Given the description of an element on the screen output the (x, y) to click on. 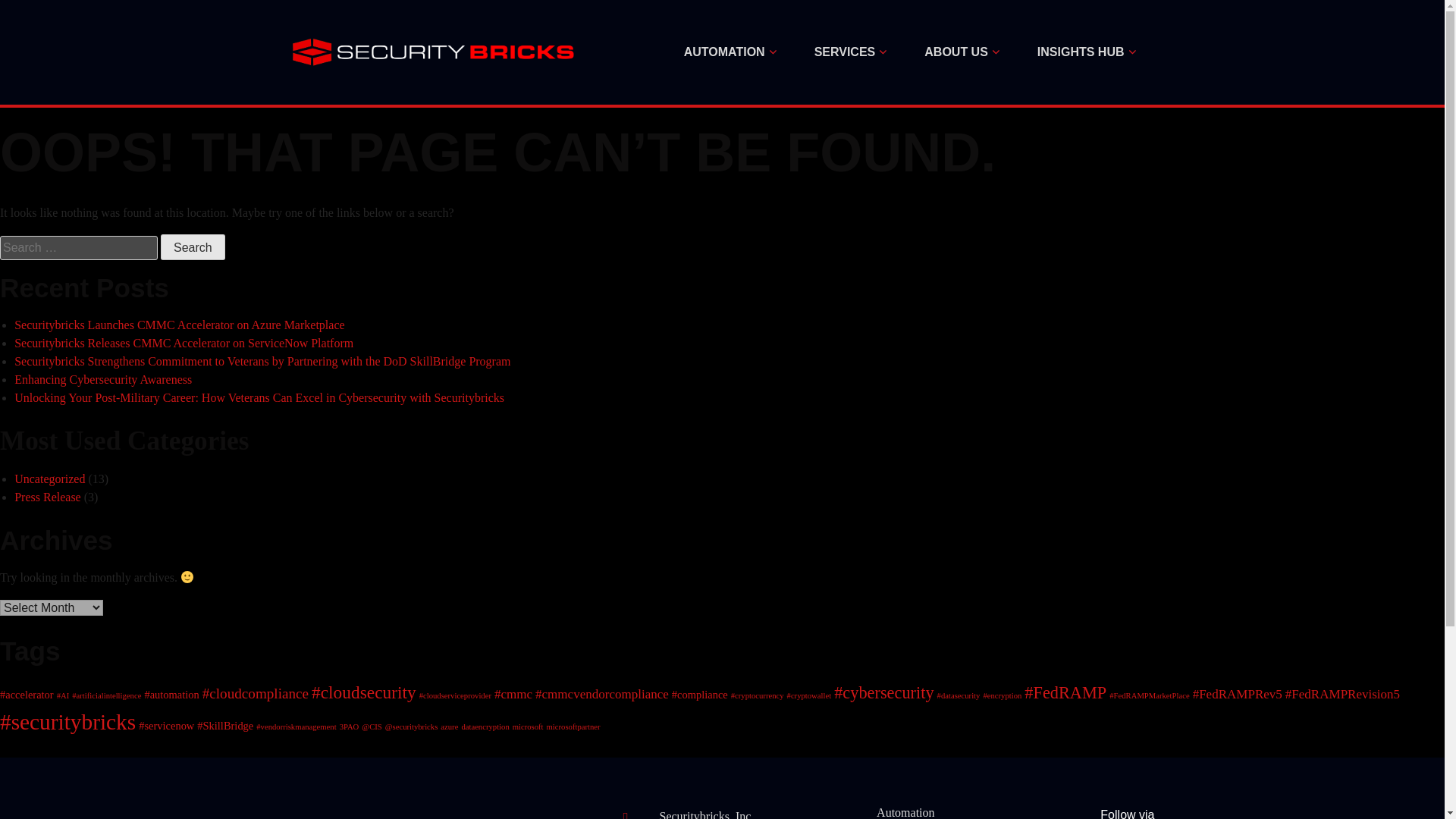
Search (192, 247)
Search (192, 247)
SERVICES (849, 52)
Search (192, 247)
INSIGHTS HUB (1085, 52)
ABOUT US (961, 52)
AUTOMATION (730, 52)
